Given the description of an element on the screen output the (x, y) to click on. 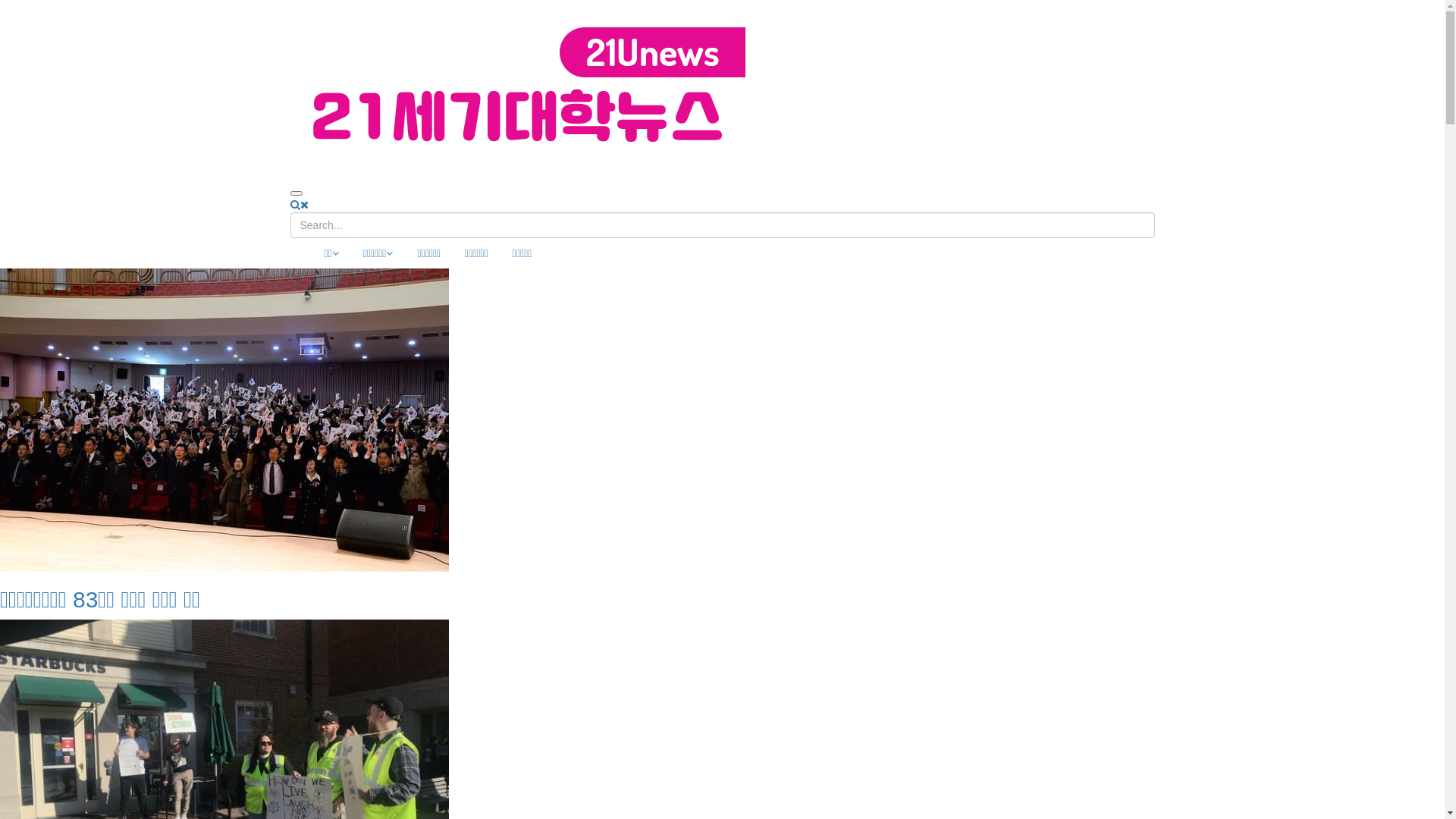
keyword Element type: hover (721, 225)
